Given the description of an element on the screen output the (x, y) to click on. 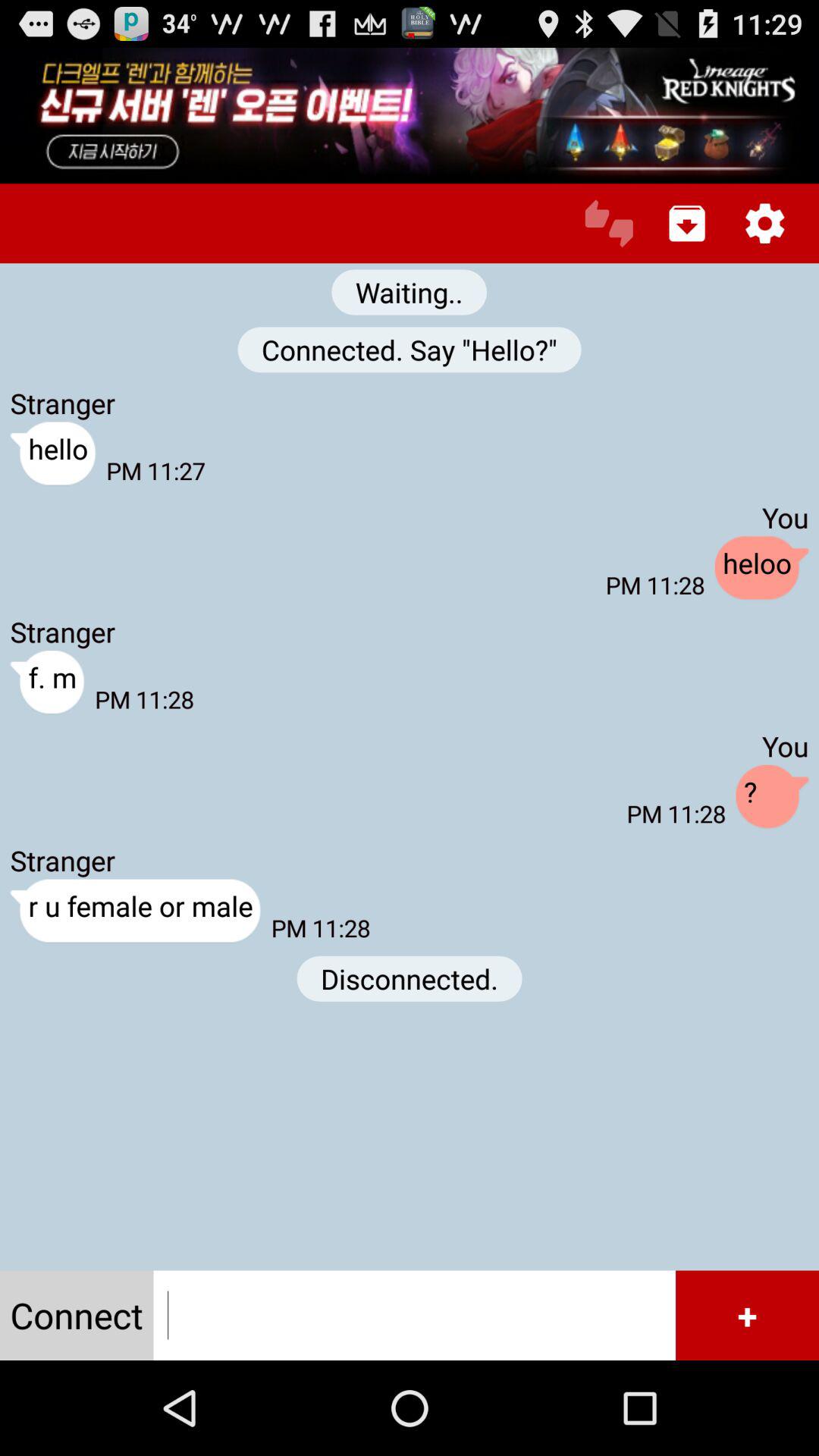
like or dislike this convo (609, 223)
